Given the description of an element on the screen output the (x, y) to click on. 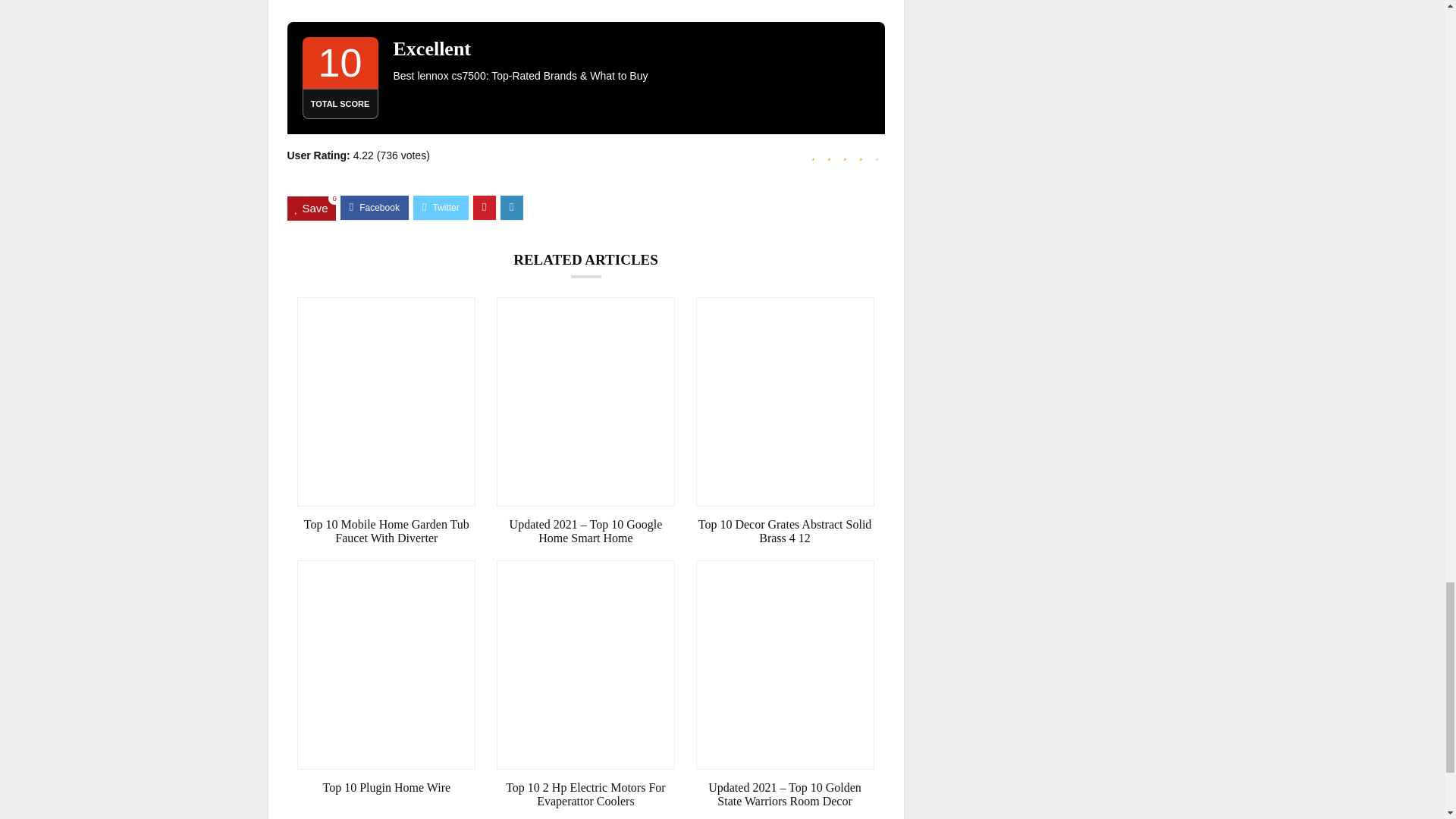
Top 10 Mobile Home Garden Tub Faucet With Diverter (386, 531)
Top 10 Decor Grates Abstract Solid Brass 4 12 (785, 531)
Top 10 2 Hp Electric Motors For Evaperattor Coolers (585, 794)
Top 10 Plugin Home Wire (386, 787)
